Given the description of an element on the screen output the (x, y) to click on. 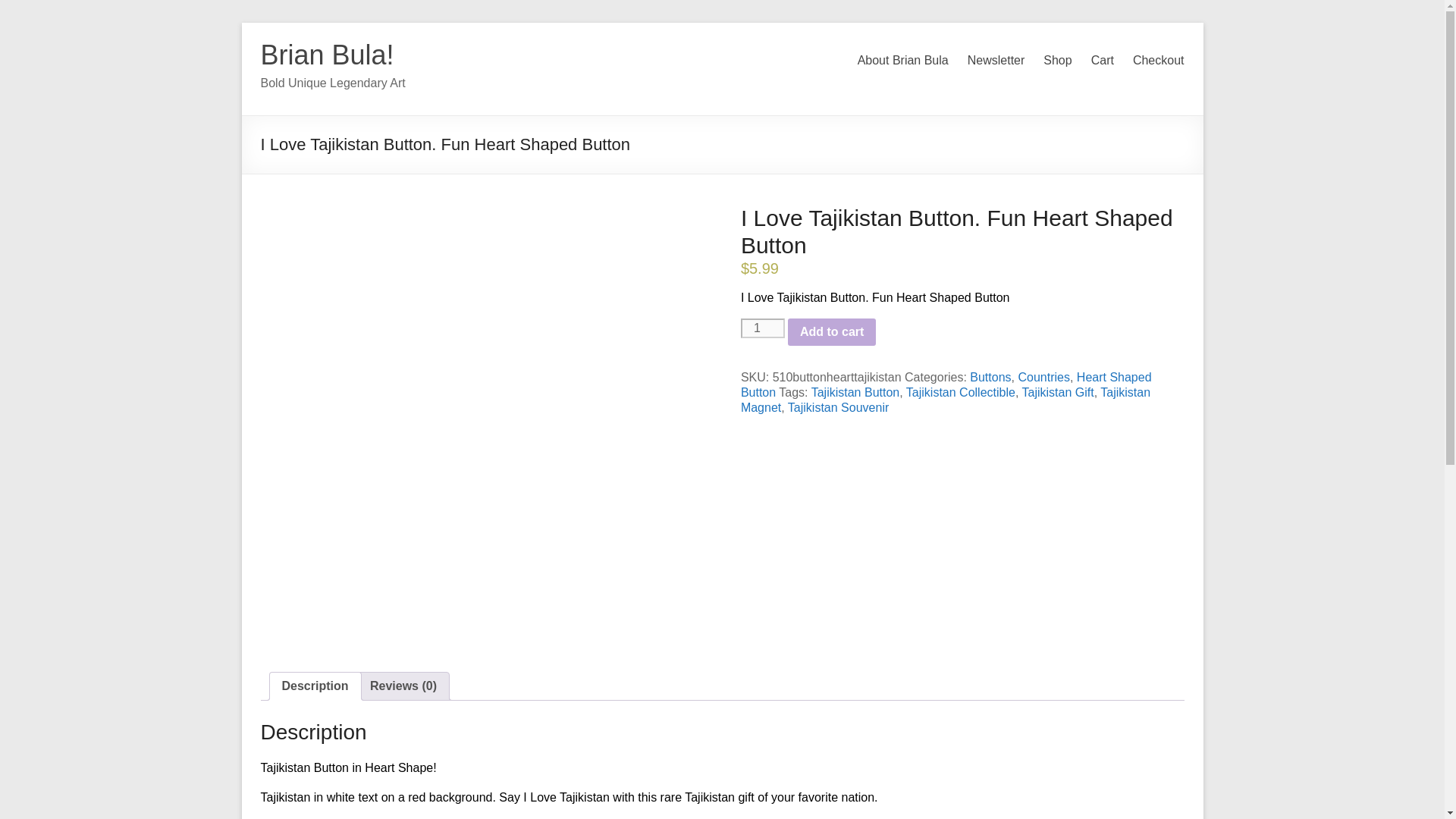
Checkout (1158, 60)
Tajikistan Collectible (959, 391)
Brian Bula! (327, 54)
Tajikistan Souvenir (837, 407)
Shop (1057, 60)
Tajikistan Magnet (945, 399)
Countries (1042, 377)
Brian Bula! (327, 54)
About Brian Bula (903, 60)
Tajikistan Gift (1058, 391)
Cart (1101, 60)
Description (315, 686)
Newsletter (996, 60)
Tajikistan Button (854, 391)
